Given the description of an element on the screen output the (x, y) to click on. 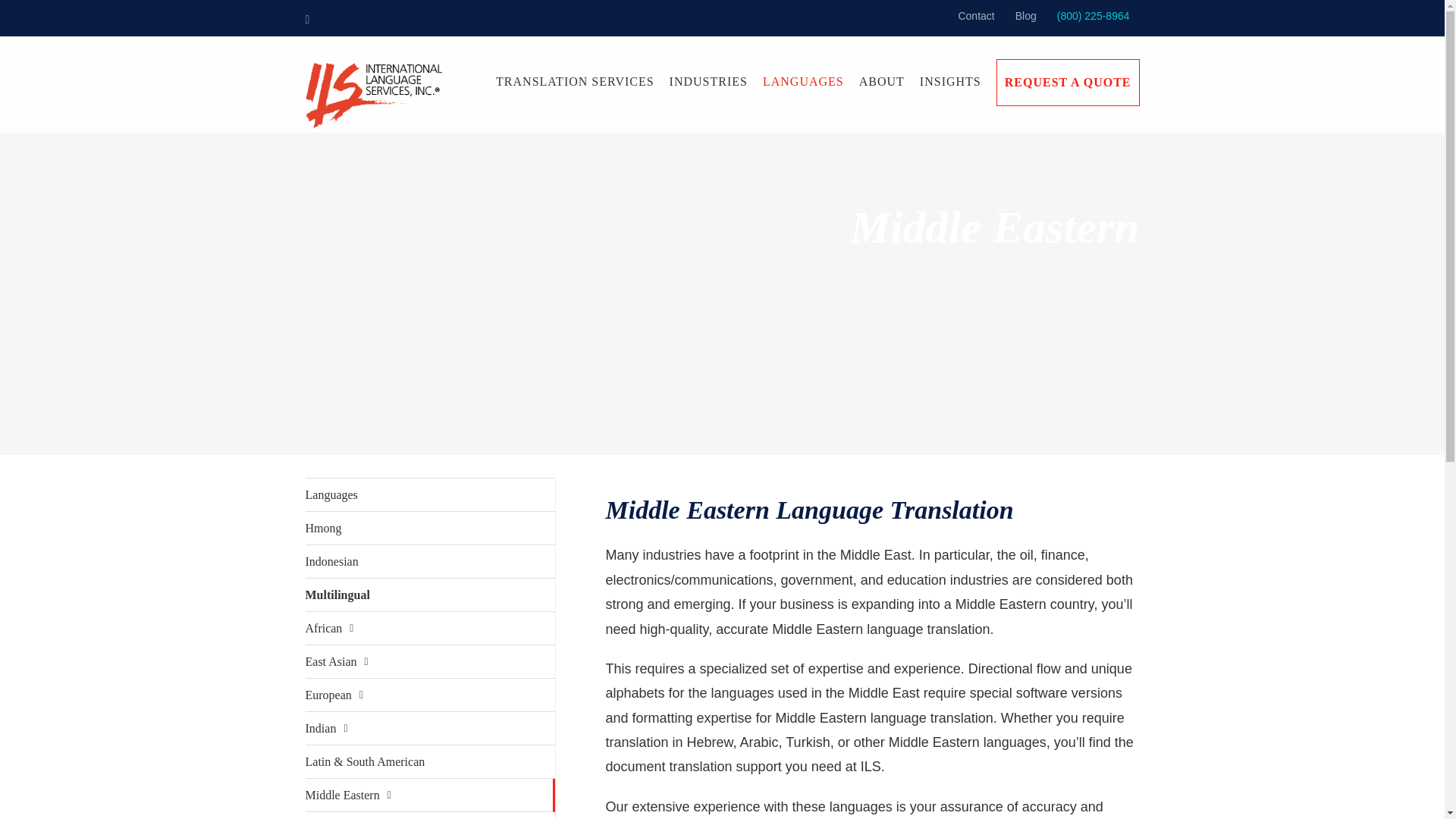
call-us (1093, 16)
INDUSTRIES (708, 81)
Contact (975, 16)
Back to Parent Page (429, 494)
Blog (1026, 16)
TRANSLATION SERVICES (574, 81)
